Given the description of an element on the screen output the (x, y) to click on. 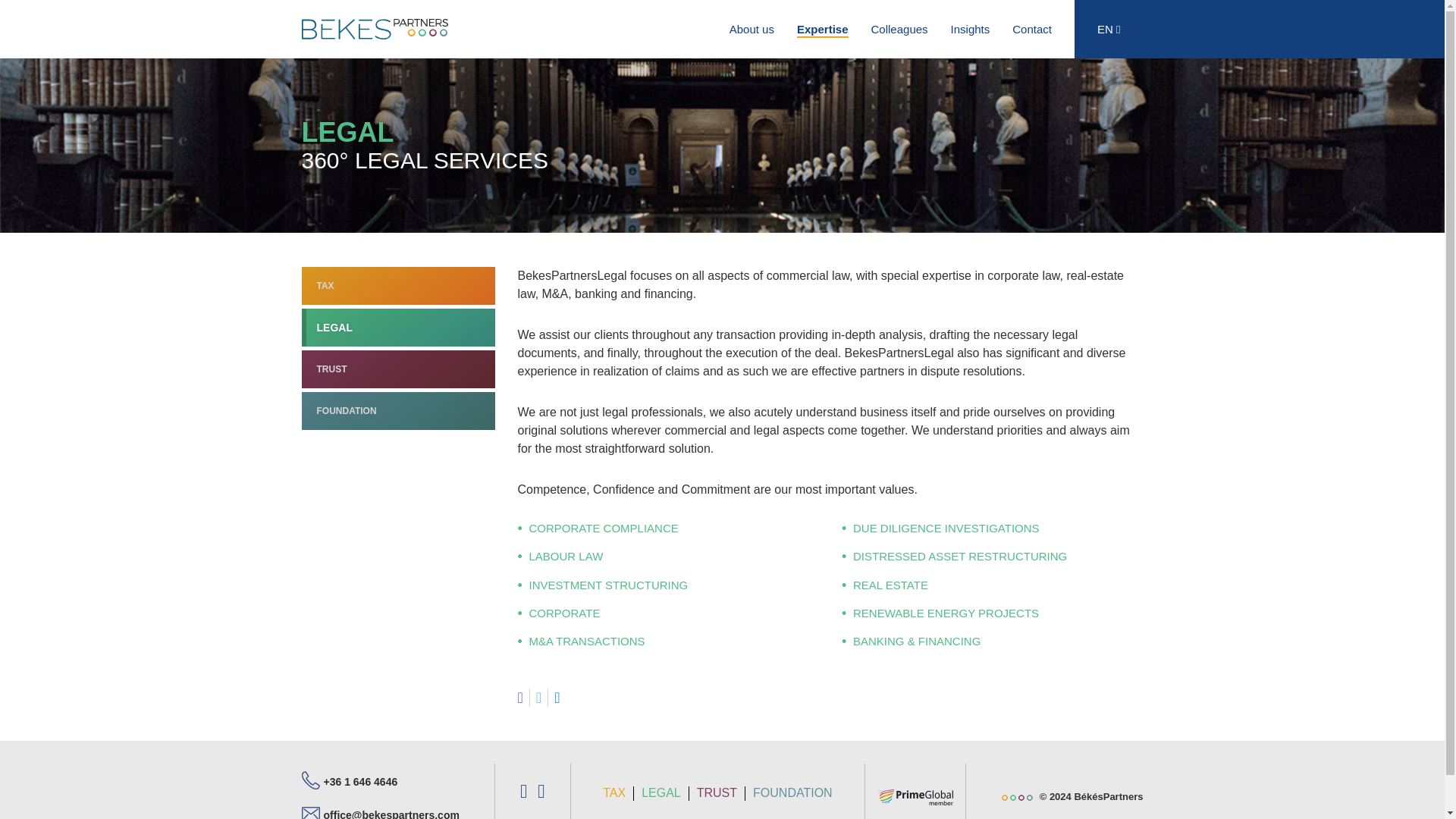
About us (751, 29)
Contact (1031, 29)
LABOUR LAW (566, 555)
Colleagues (899, 29)
DUE DILIGENCE INVESTIGATIONS (946, 527)
TAX (398, 285)
FOUNDATION (398, 410)
REAL ESTATE (890, 584)
LEGAL (398, 327)
INVESTMENT STRUCTURING (608, 584)
RENEWABLE ENERGY PROJECTS (946, 612)
Insights (970, 29)
DISTRESSED ASSET RESTRUCTURING (960, 555)
Expertise (822, 29)
CORPORATE (564, 612)
